Given the description of an element on the screen output the (x, y) to click on. 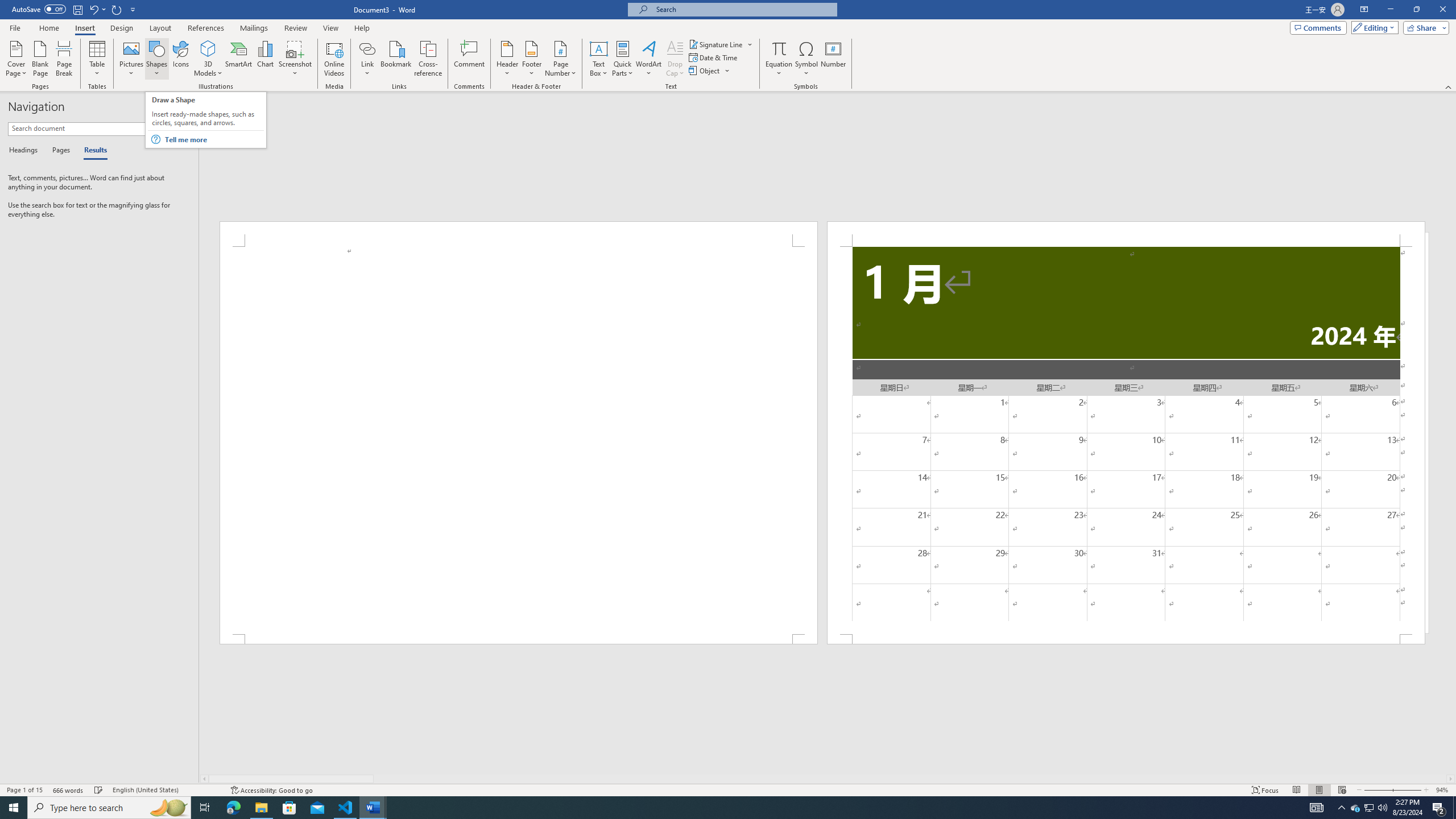
Date & Time... (714, 56)
Undo New Page (92, 9)
Object... (705, 69)
Page 1 content (518, 439)
Pictures (131, 58)
